Given the description of an element on the screen output the (x, y) to click on. 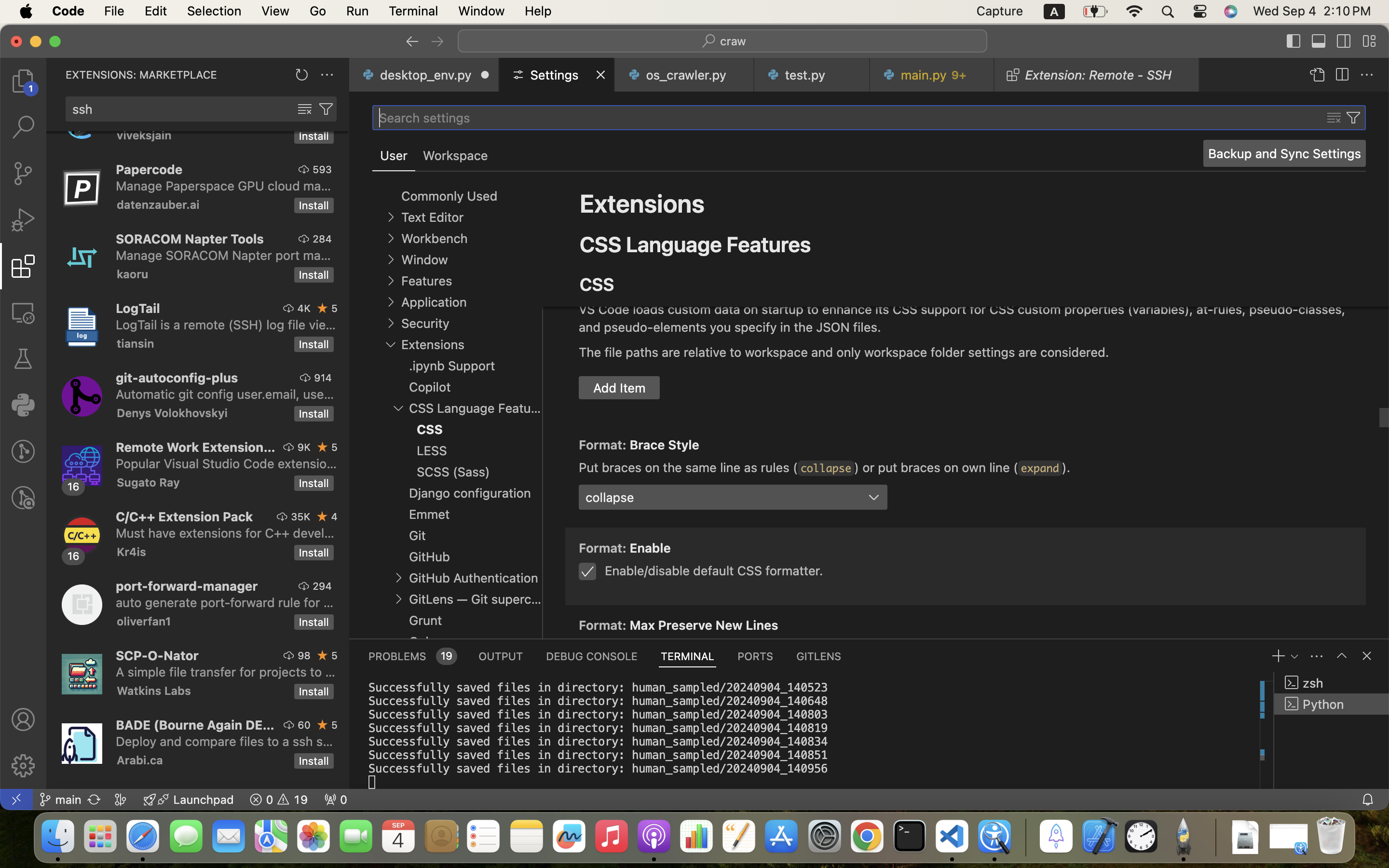
Application Element type: AXStaticText (433, 302)
git-autoconfig-plus Element type: AXStaticText (176, 377)
kaoru Element type: AXStaticText (132, 273)
35K Element type: AXStaticText (300, 516)
custom data format Element type: AXStaticText (995, 283)
